Given the description of an element on the screen output the (x, y) to click on. 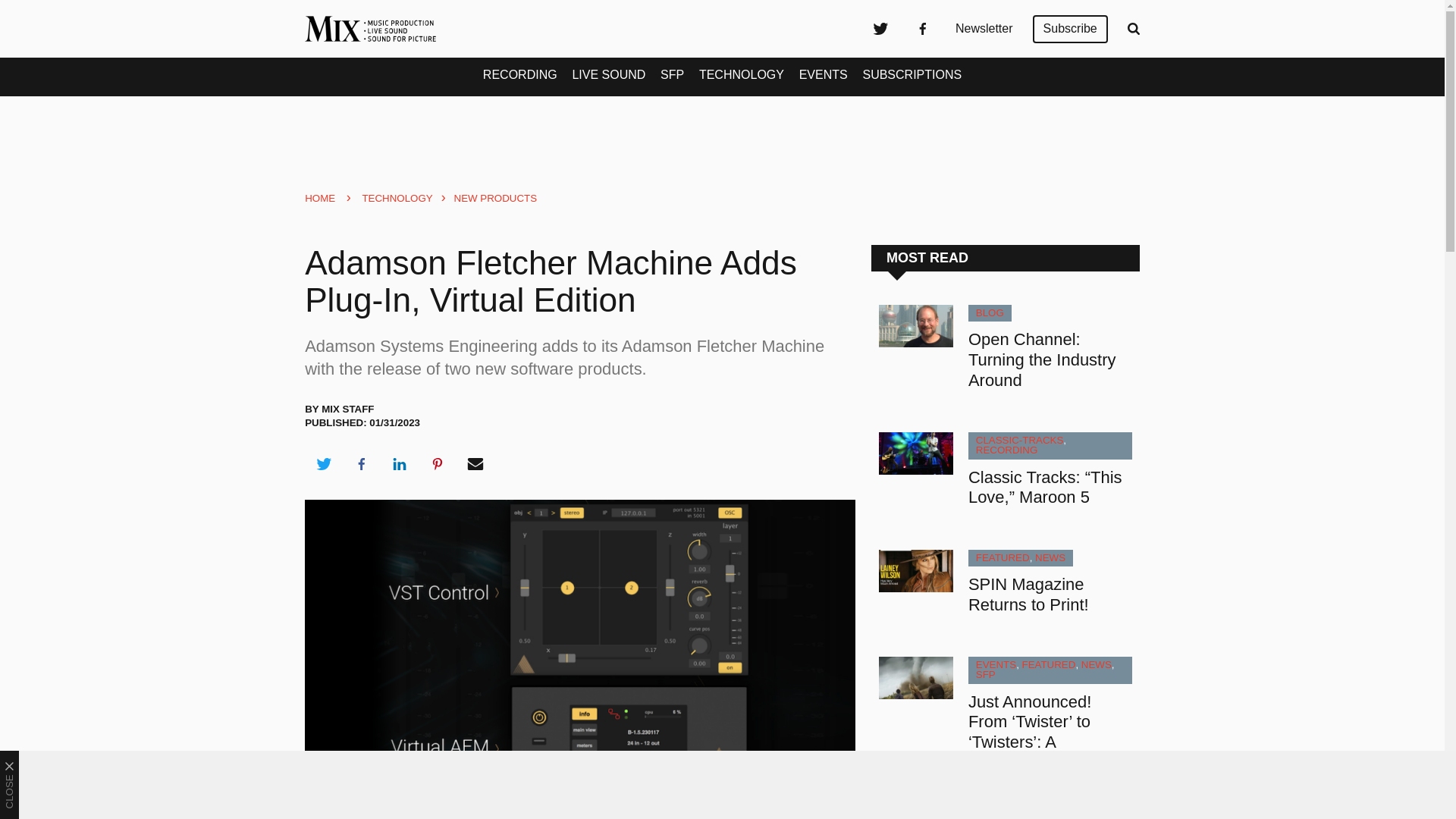
Share on Twitter (323, 464)
Share on Pinterest (438, 464)
Share on Facebook (361, 464)
Share via Email (476, 464)
Share on LinkedIn (399, 464)
